Given the description of an element on the screen output the (x, y) to click on. 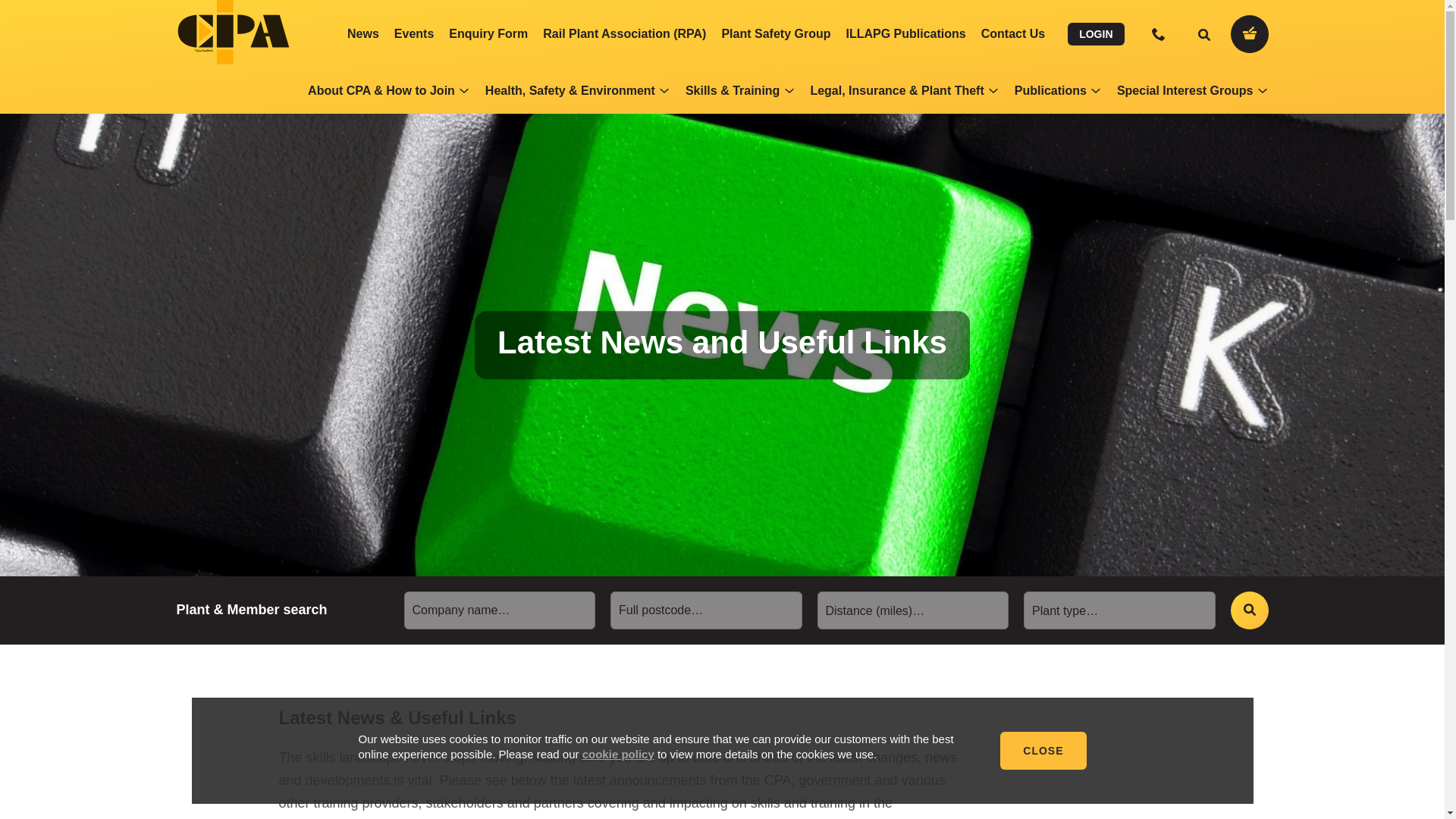
Plant Safety Group (774, 33)
LOGIN (1095, 33)
Contact Us (1013, 33)
cookie policy (617, 753)
Basket (1249, 34)
CLOSE (1043, 750)
Enquiry Form (487, 33)
ILLAPG Publications (905, 33)
News (362, 33)
Events (413, 33)
